Given the description of an element on the screen output the (x, y) to click on. 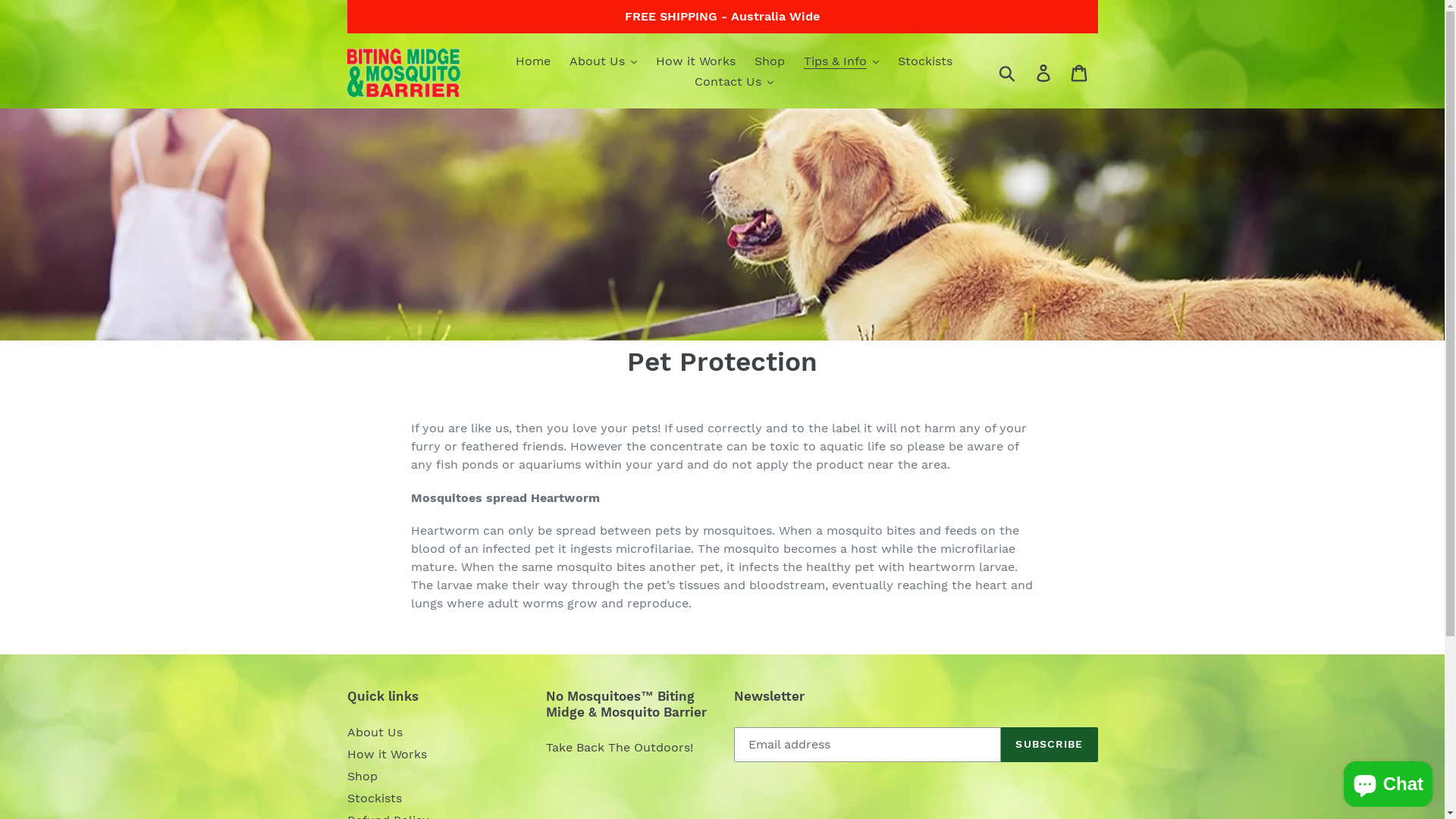
Shopify online store chat Element type: hover (1388, 780)
Home Element type: text (533, 62)
How it Works Element type: text (695, 62)
Log in Element type: text (1044, 73)
SUBSCRIBE Element type: text (1049, 744)
Cart Element type: text (1079, 73)
FREE SHIPPING - Australia Wide Element type: text (722, 16)
Stockists Element type: text (374, 797)
Shop Element type: text (362, 775)
Submit Element type: text (1007, 72)
Stockists Element type: text (925, 62)
Shop Element type: text (769, 62)
How it Works Element type: text (386, 753)
About Us Element type: text (374, 731)
